Given the description of an element on the screen output the (x, y) to click on. 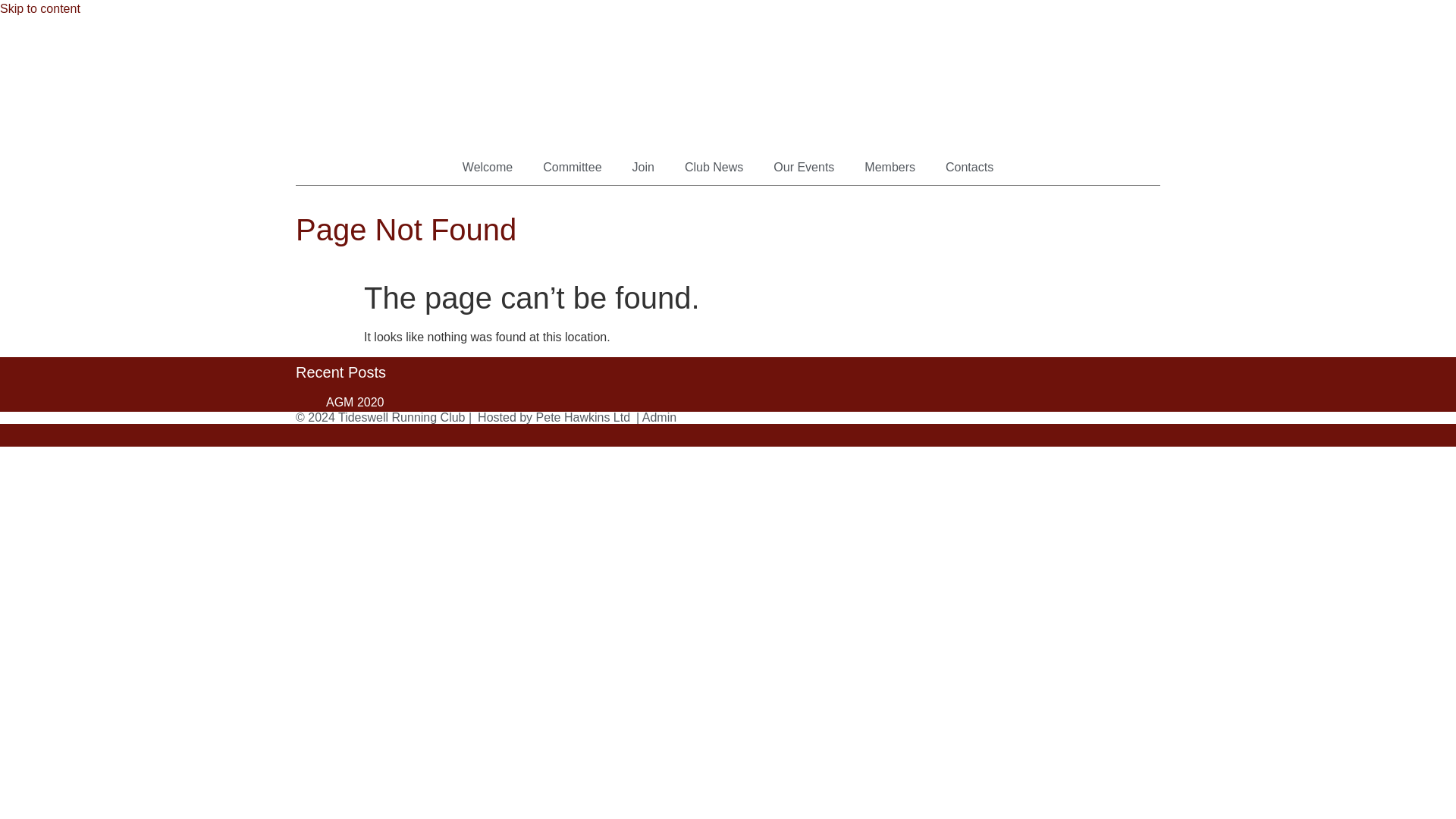
Our Events (803, 167)
Useful info fro members (889, 167)
Members (889, 167)
Contacts (969, 167)
Committee (571, 167)
Join (643, 167)
Club News (713, 167)
Home Page (486, 167)
Welcome (486, 167)
Hosted by Pete Hawkins Ltd (553, 417)
Skip to content (40, 8)
Join Tideswell Running Club (643, 167)
Contact Committee Members (969, 167)
Mission Statement (571, 167)
AGM 2020 (355, 401)
